Given the description of an element on the screen output the (x, y) to click on. 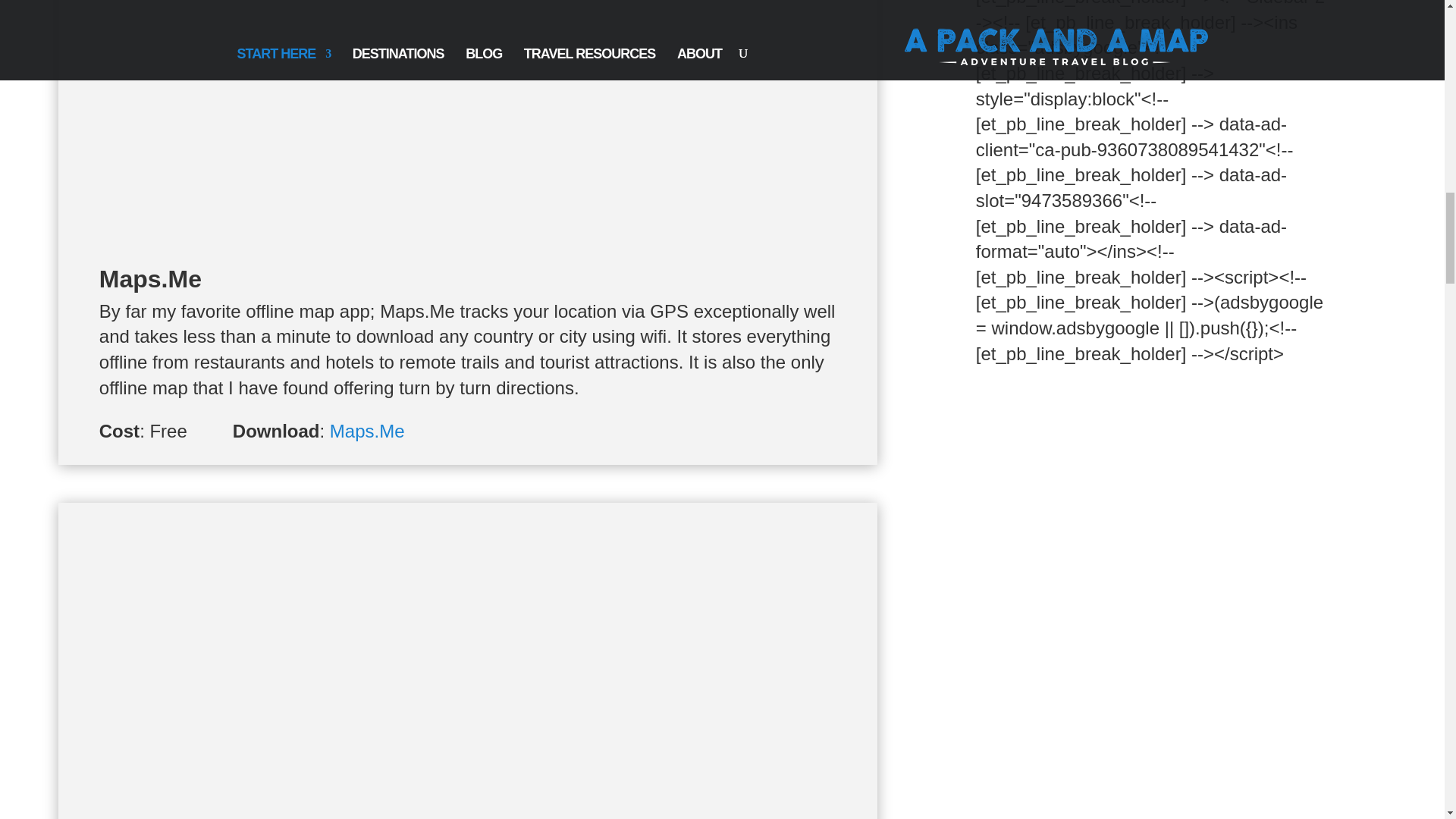
Maps.Me (367, 430)
